Given the description of an element on the screen output the (x, y) to click on. 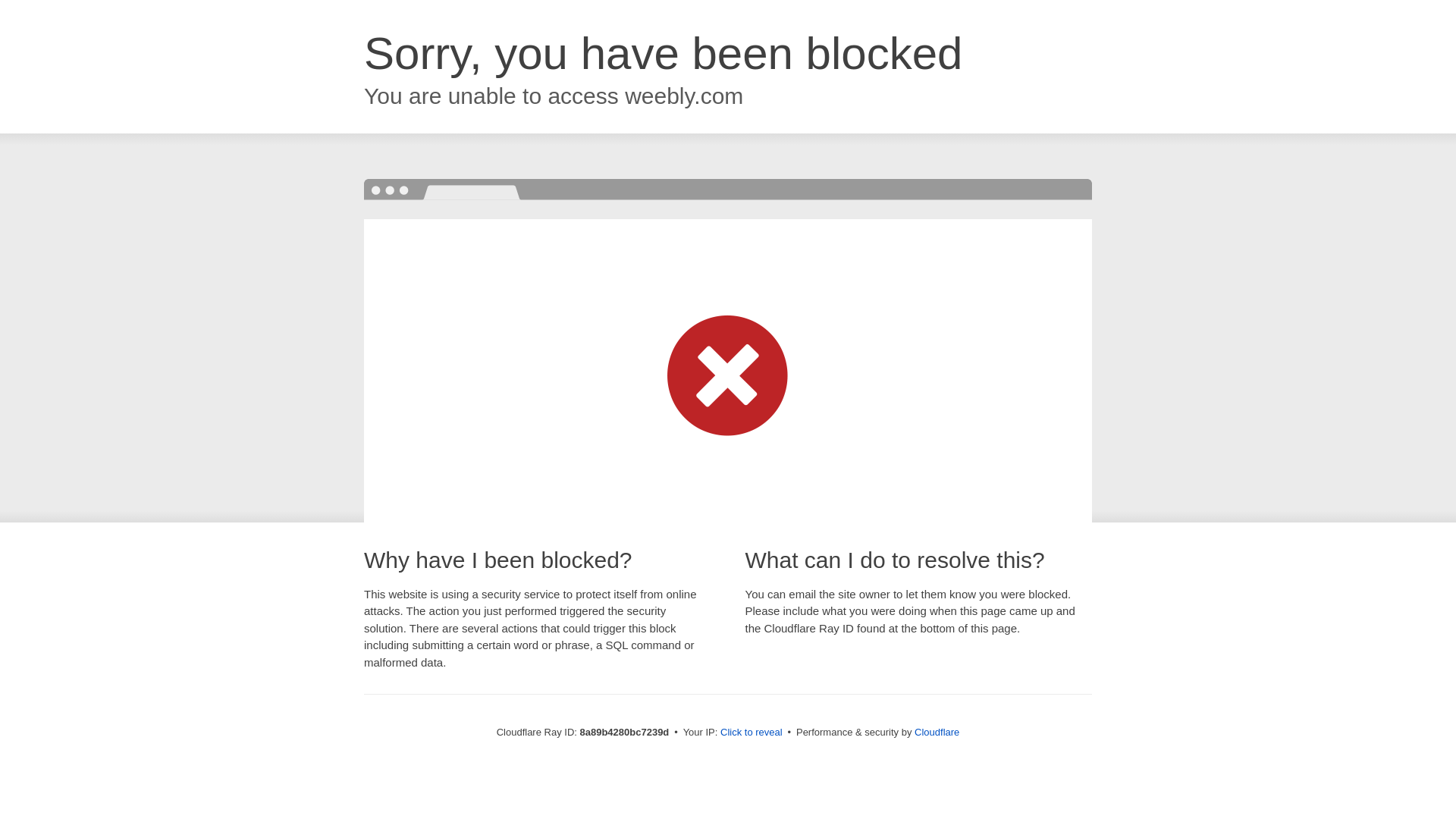
Click to reveal (751, 732)
Cloudflare (936, 731)
